Given the description of an element on the screen output the (x, y) to click on. 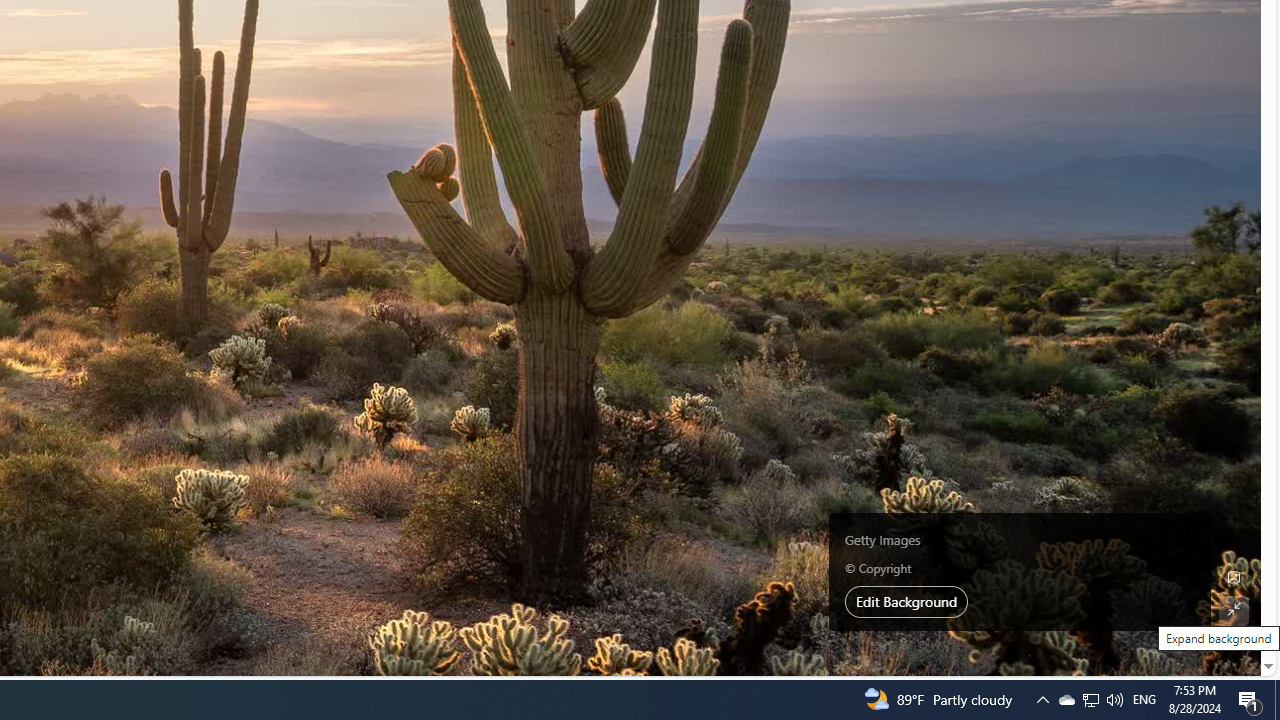
Traffic Title Traffic Light (489, 543)
Expand background (1233, 610)
tab-4 (535, 175)
Play Now (616, 491)
Xbox (521, 227)
See more hotels (694, 175)
